Given the description of an element on the screen output the (x, y) to click on. 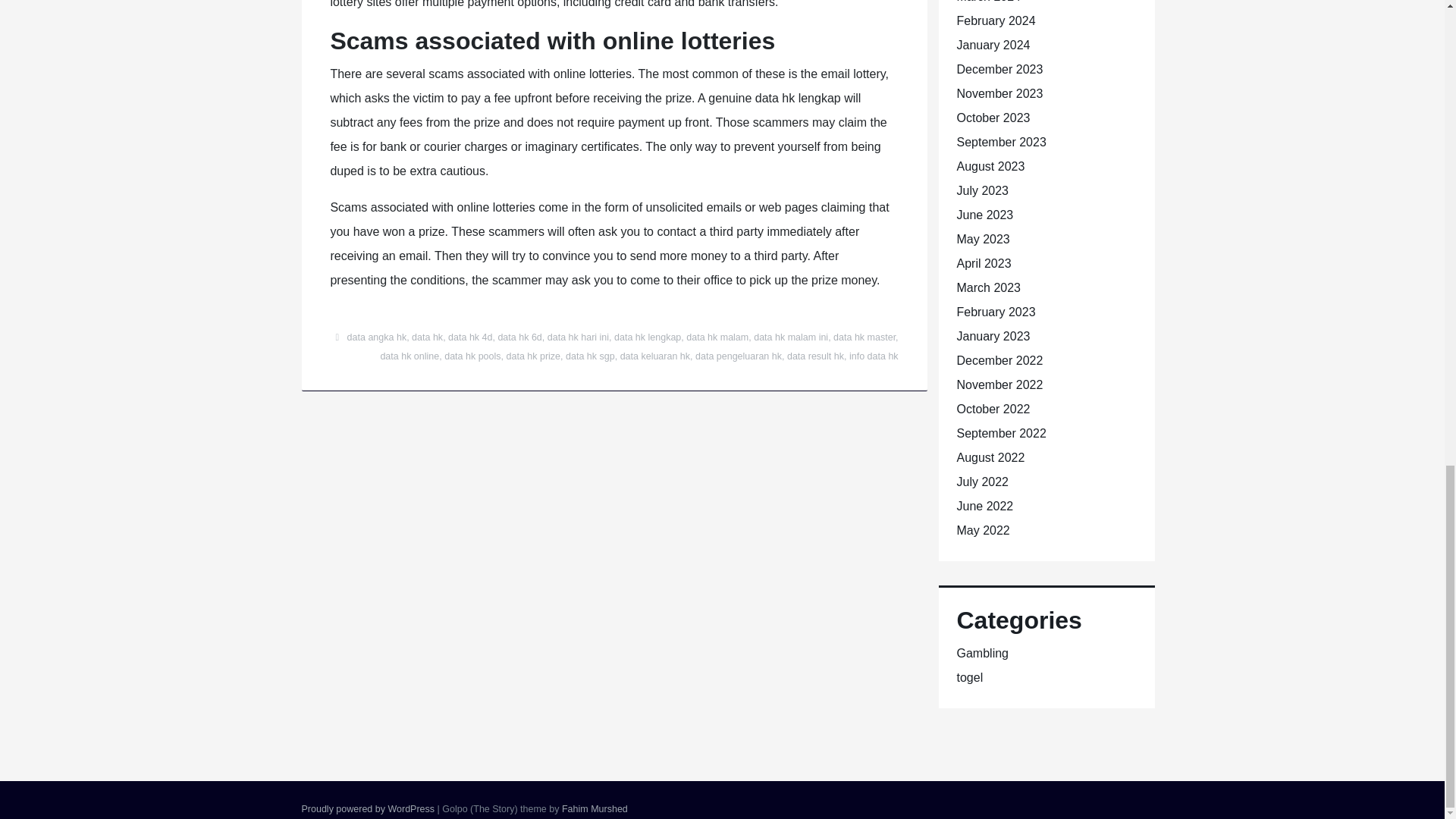
data hk hari ini (577, 337)
data keluaran hk (655, 356)
data hk (427, 337)
December 2023 (999, 69)
data hk malam ini (791, 337)
January 2024 (993, 44)
November 2023 (999, 92)
data hk malam (716, 337)
October 2023 (993, 117)
data hk master (863, 337)
data pengeluaran hk (738, 356)
data hk lengkap (647, 337)
data hk online (409, 356)
info data hk (873, 356)
data angka hk (377, 337)
